Given the description of an element on the screen output the (x, y) to click on. 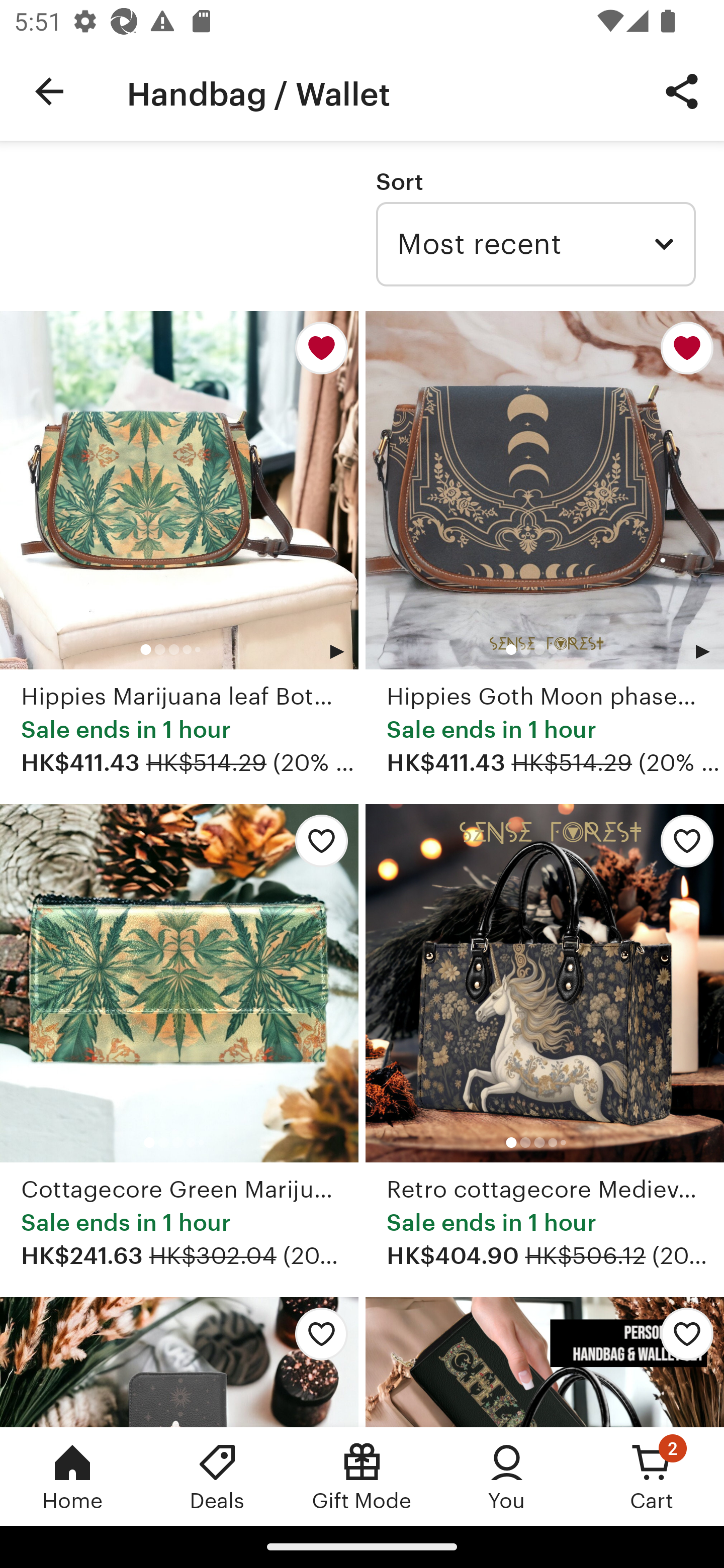
Navigate up (49, 91)
Share Button (681, 90)
Sort (399, 181)
Most recent (535, 244)
Deals (216, 1475)
Gift Mode (361, 1475)
You (506, 1475)
Cart, 2 new notifications Cart (651, 1475)
